Given the description of an element on the screen output the (x, y) to click on. 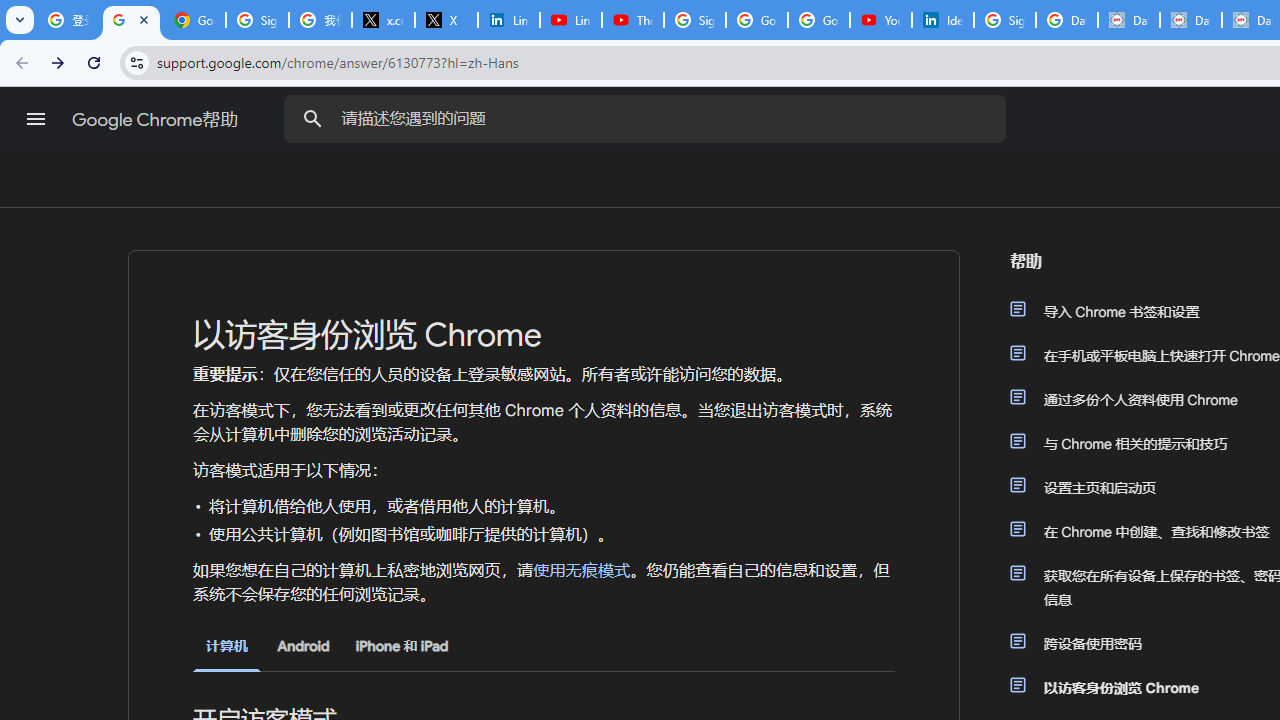
Sign in - Google Accounts (694, 20)
